Given the description of an element on the screen output the (x, y) to click on. 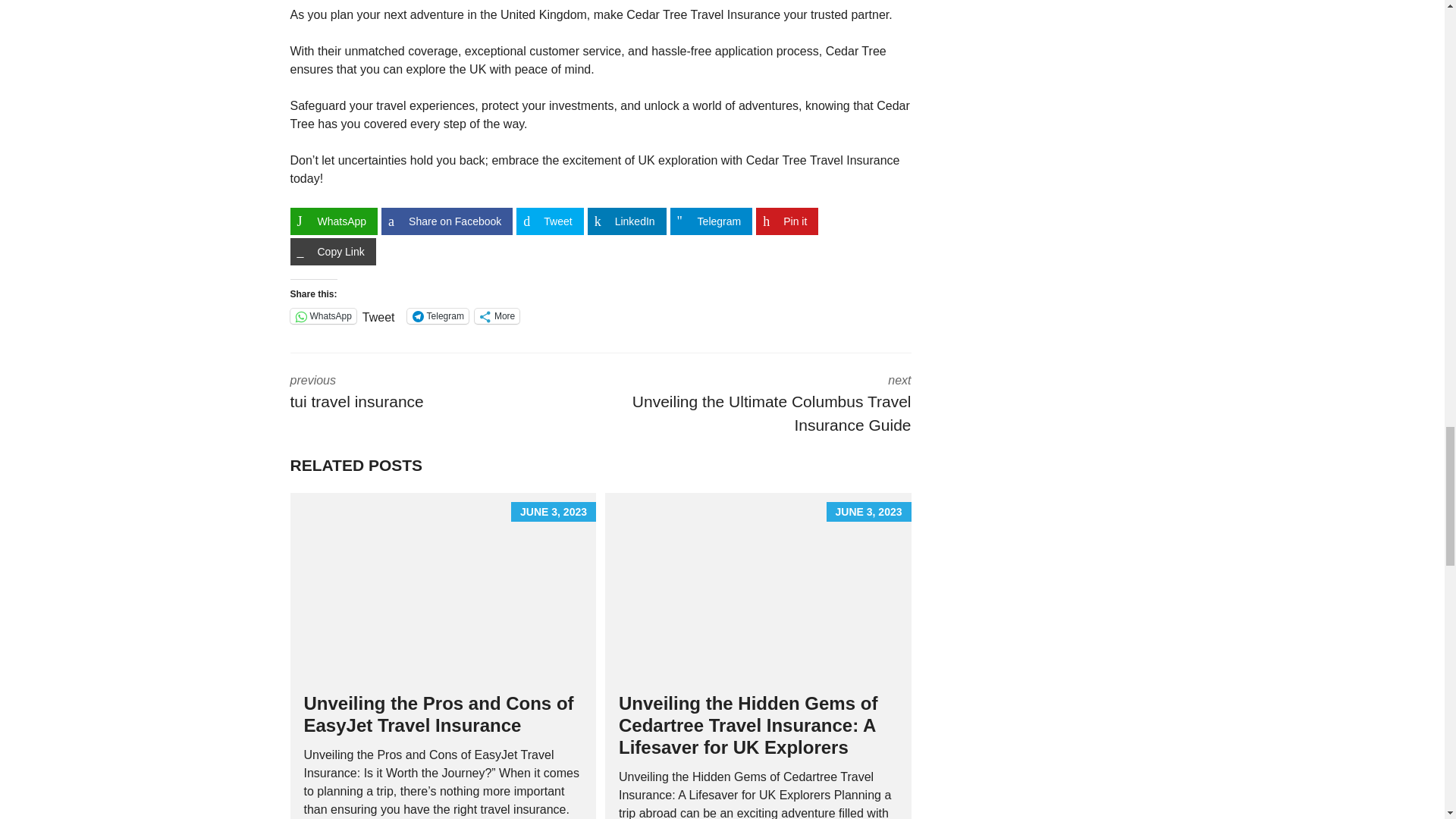
Share on WhatsApp (333, 221)
Click to share on Telegram (437, 315)
Share on LinkedIn (627, 221)
Telegram (437, 315)
Unveiling the Pros and Cons of EasyJet Travel Insurance (437, 713)
Share on Copy Link (332, 251)
WhatsApp (322, 315)
Telegram (710, 221)
Share on Tweet (549, 221)
Tweet (378, 315)
